Given the description of an element on the screen output the (x, y) to click on. 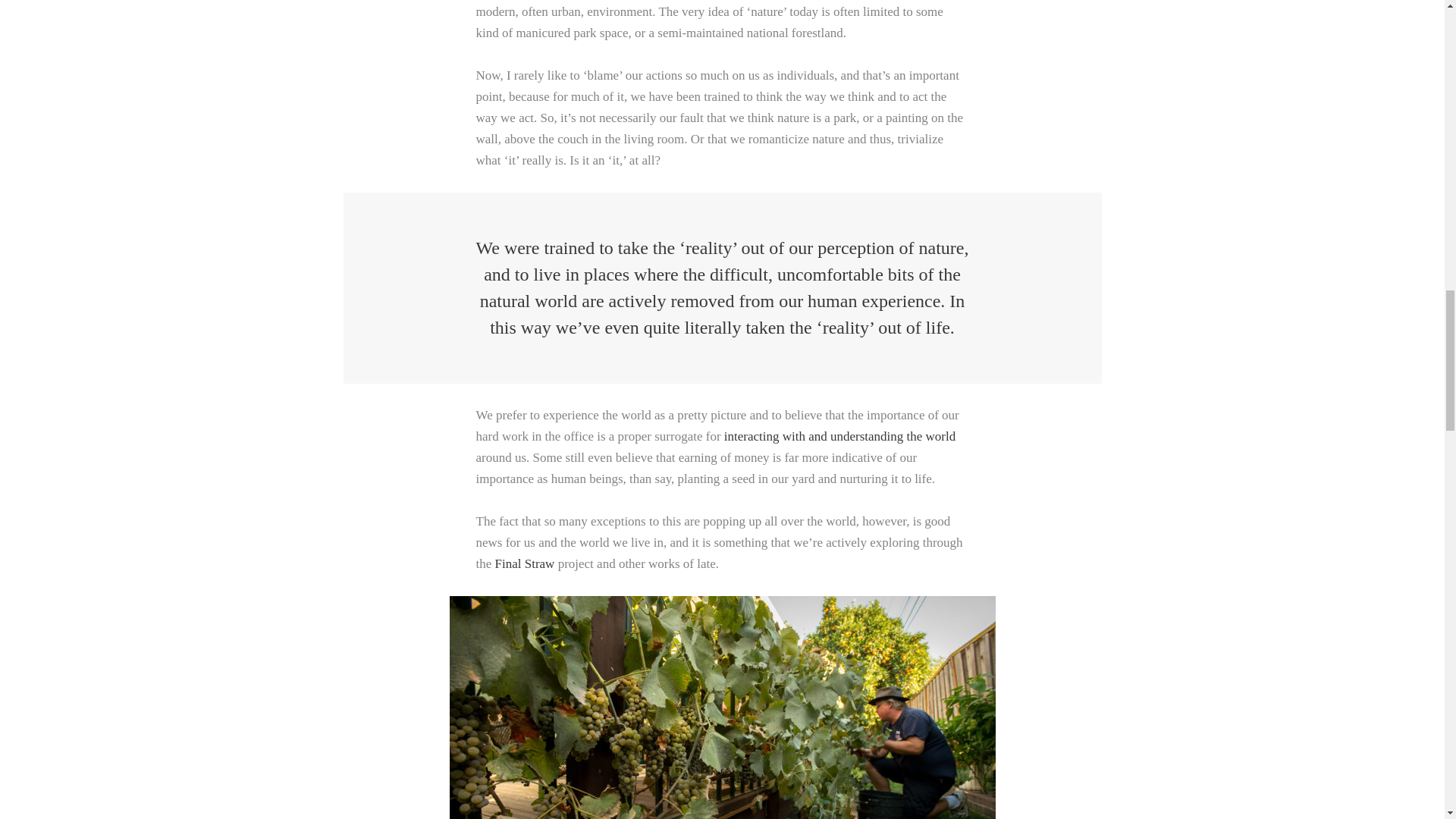
interacting with and understanding the world (839, 436)
Final Straw (524, 563)
